Given the description of an element on the screen output the (x, y) to click on. 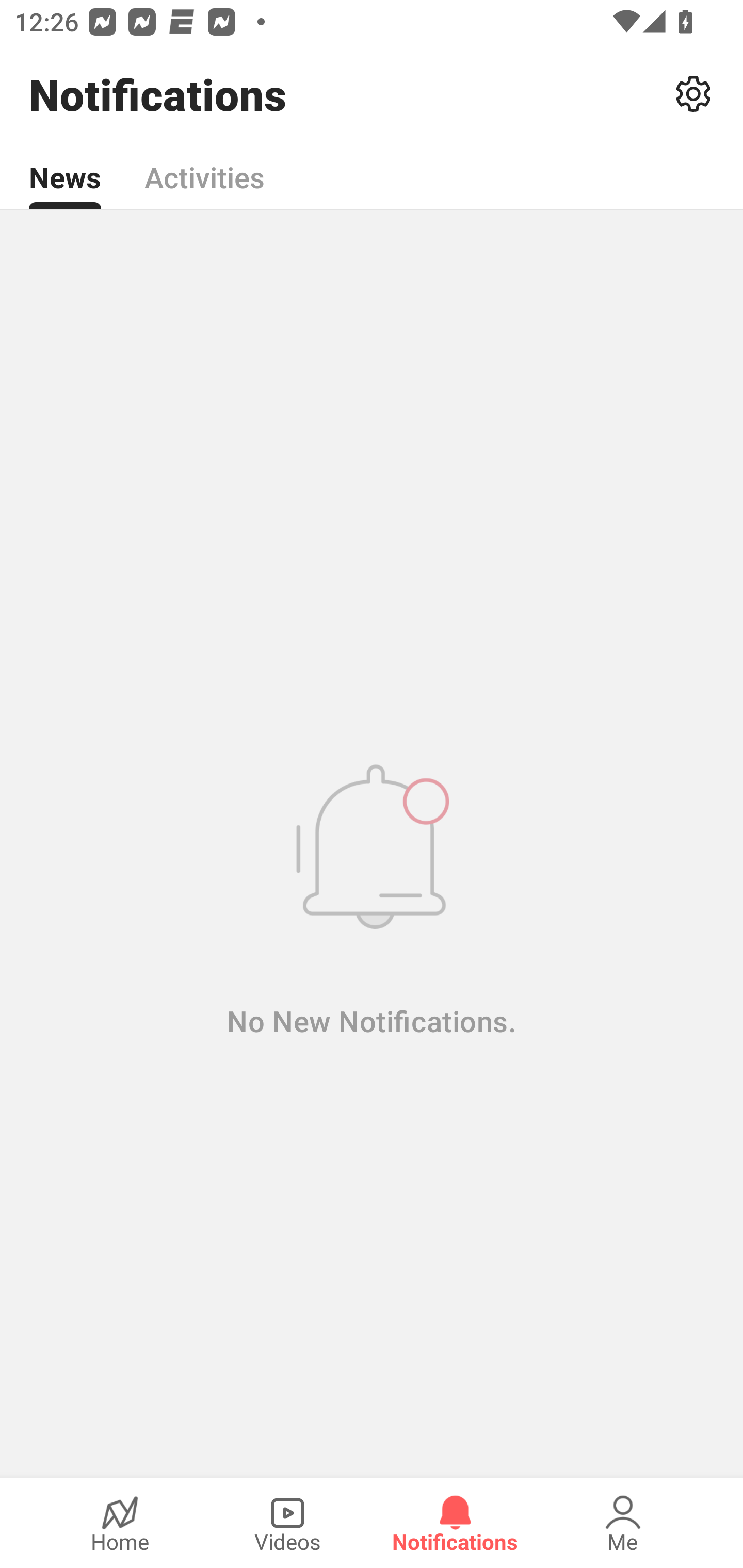
Activities (204, 166)
Home (119, 1522)
Videos (287, 1522)
Me (622, 1522)
